Given the description of an element on the screen output the (x, y) to click on. 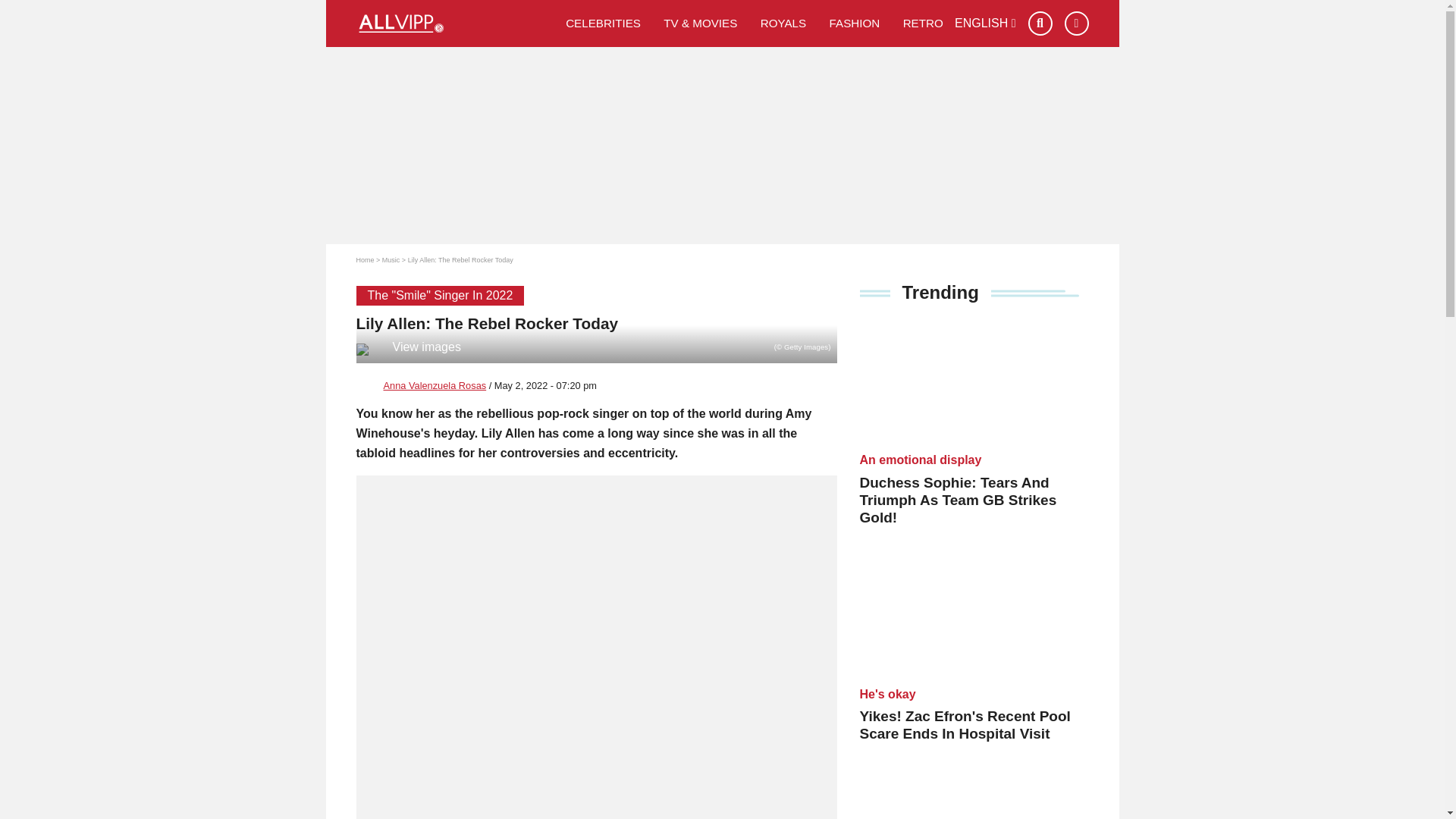
ENGLISH  (985, 22)
RETRO (923, 23)
Royals (783, 23)
Retro (923, 23)
Celebrities (603, 23)
CELEBRITIES (603, 23)
Anna Valenzuela Rosas (435, 385)
FASHION (853, 23)
Fashion (853, 23)
Home (365, 259)
VIP News I Up close with your favorite Celebs on Allvipp.com (455, 23)
Search (1039, 23)
Music (390, 259)
ROYALS (783, 23)
